Given the description of an element on the screen output the (x, y) to click on. 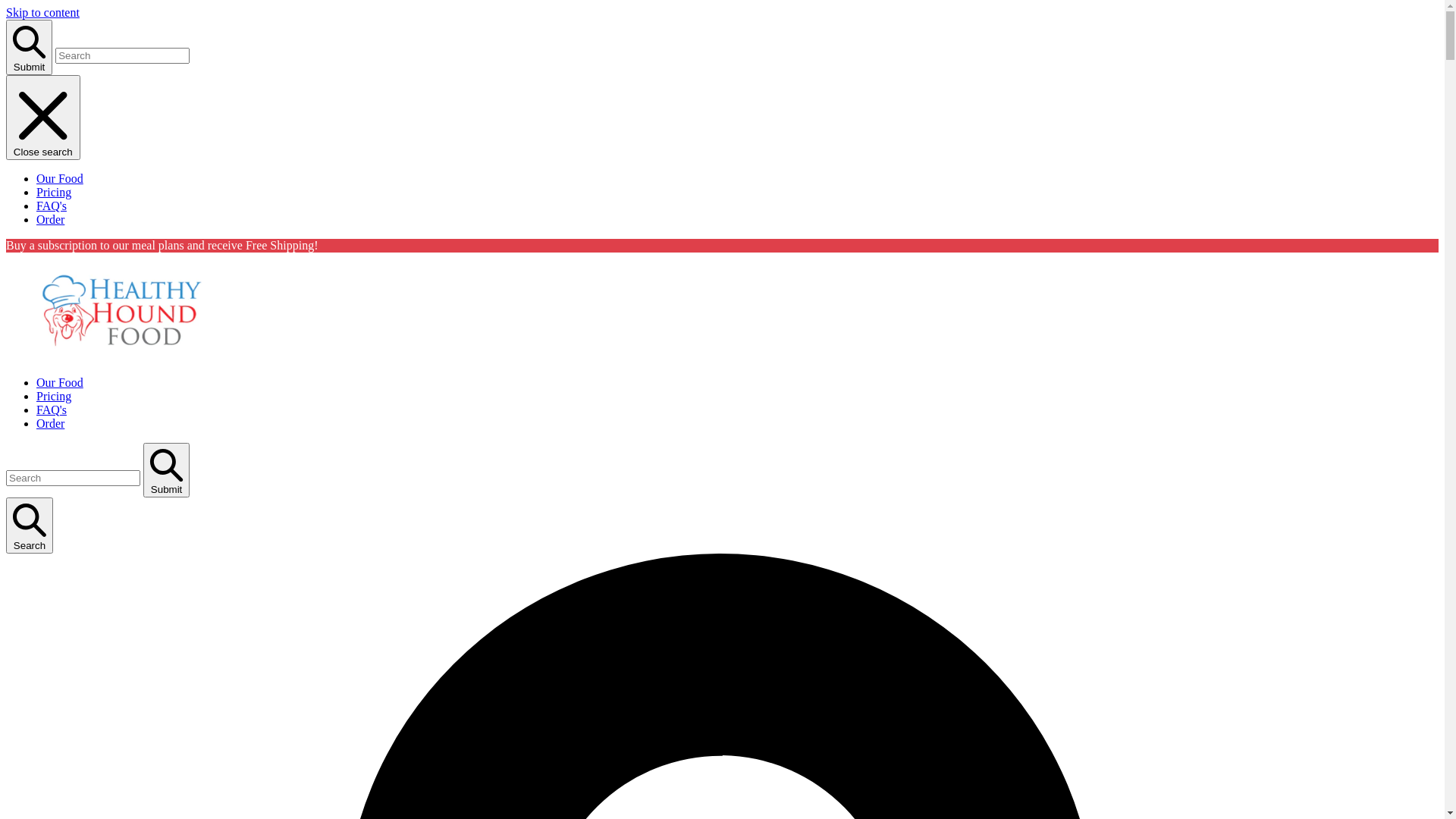
Skip to content Element type: text (42, 12)
Pricing Element type: text (53, 191)
FAQ's Element type: text (51, 205)
Submit Element type: text (29, 47)
Our Food Element type: text (59, 178)
Order Element type: text (50, 219)
Pricing Element type: text (53, 395)
Order Element type: text (50, 423)
Close search Element type: text (43, 117)
Our Food Element type: text (59, 382)
Submit Element type: text (166, 470)
Search Element type: text (29, 525)
FAQ's Element type: text (51, 409)
